Given the description of an element on the screen output the (x, y) to click on. 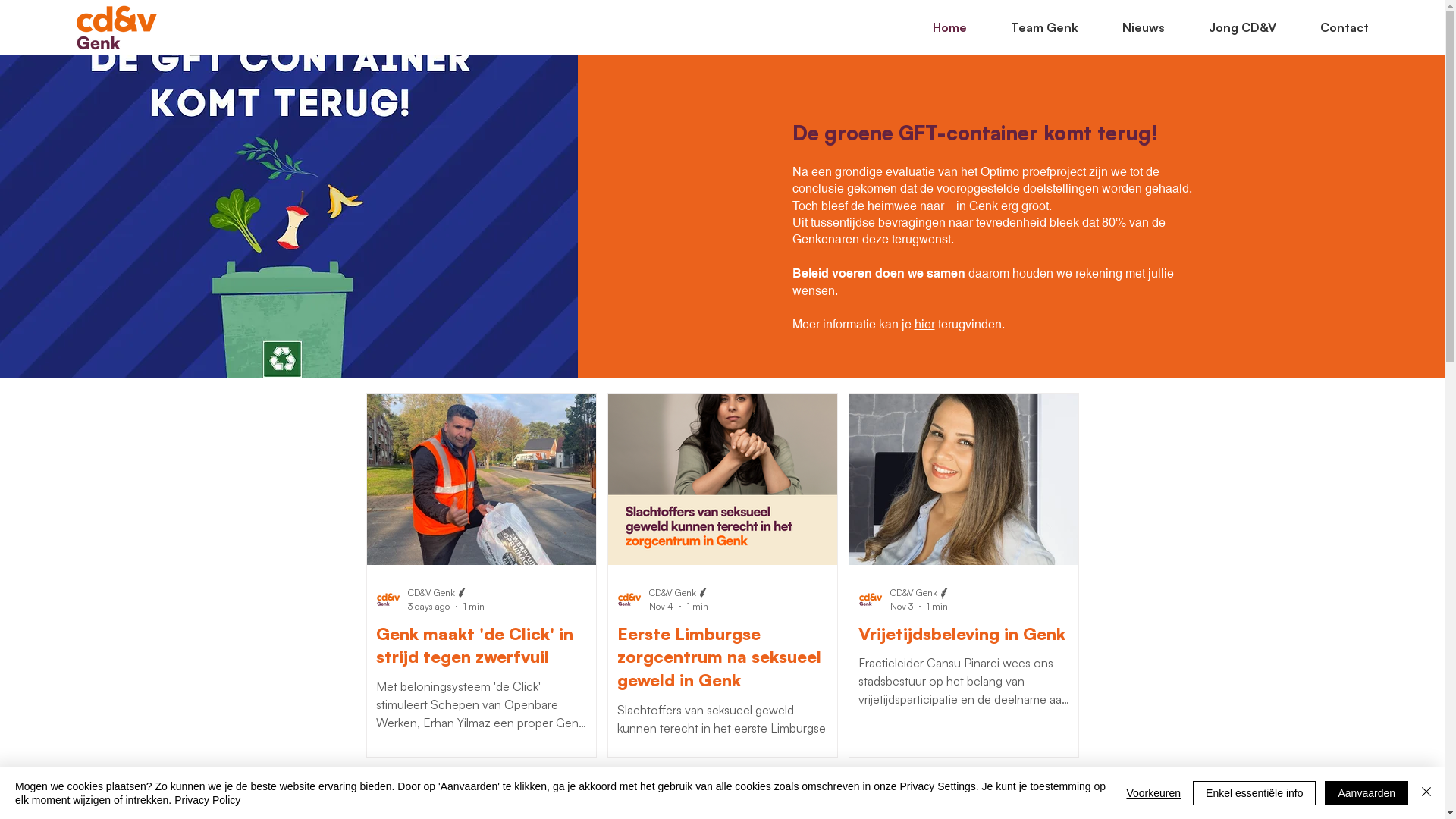
Aanvaarden Element type: text (1366, 793)
Home Element type: text (939, 27)
Contact Element type: text (1333, 27)
hier Element type: text (924, 323)
Jong CD&V Element type: text (1231, 27)
Eerste Limburgse zorgcentrum na seksueel geweld in Genk Element type: text (722, 657)
Vrijetijdsbeleving in Genk Element type: text (963, 634)
Nieuws Element type: text (1132, 27)
Genk maakt 'de Click' in strijd tegen zwerfvuil Element type: text (481, 645)
Privacy Policy Element type: text (207, 799)
Team Genk Element type: text (1033, 27)
